Given the description of an element on the screen output the (x, y) to click on. 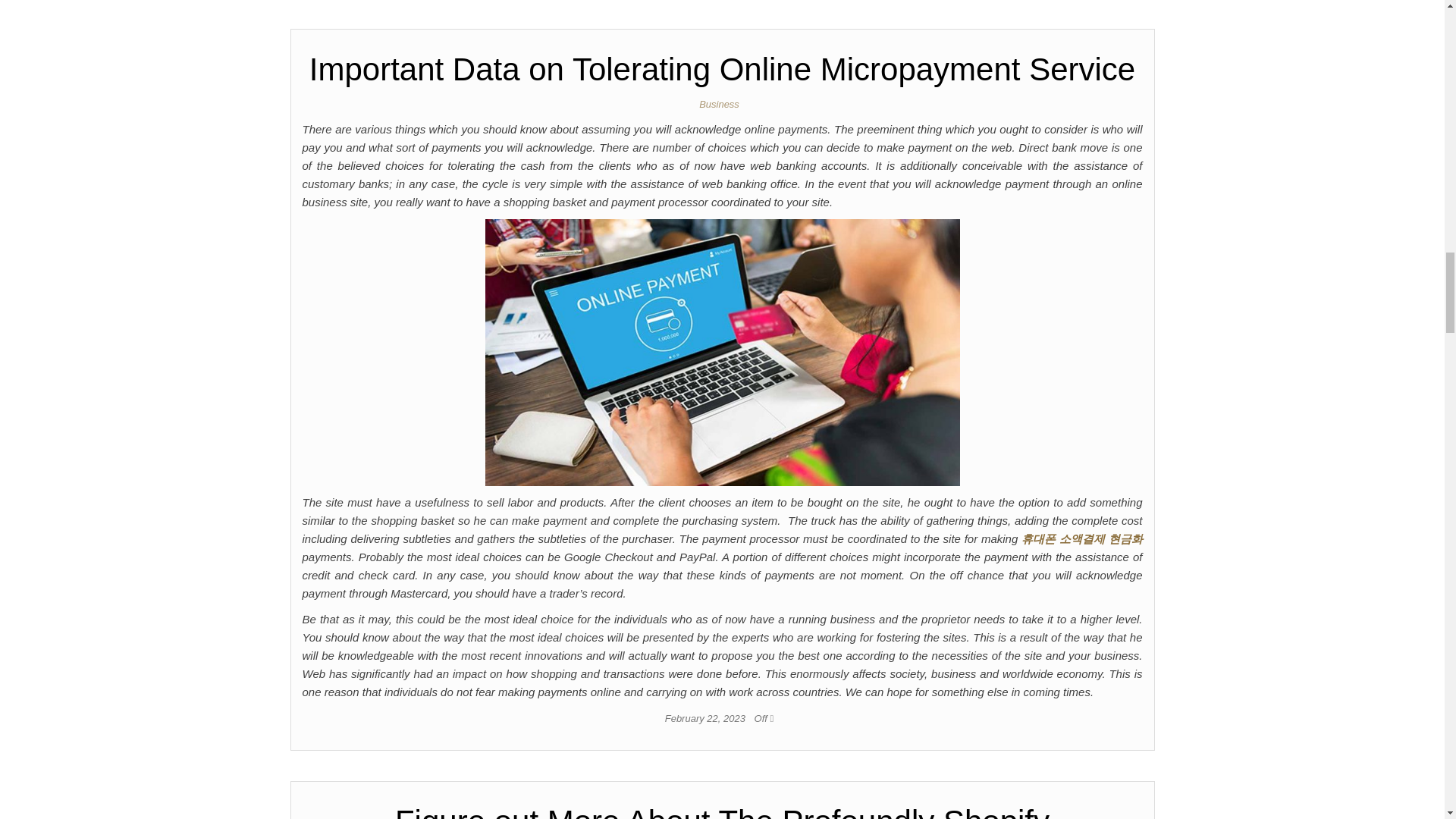
Figure out More About The Profoundly Shopify Administration (721, 811)
Important Data on Tolerating Online Micropayment Service (721, 68)
Business (721, 103)
